Given the description of an element on the screen output the (x, y) to click on. 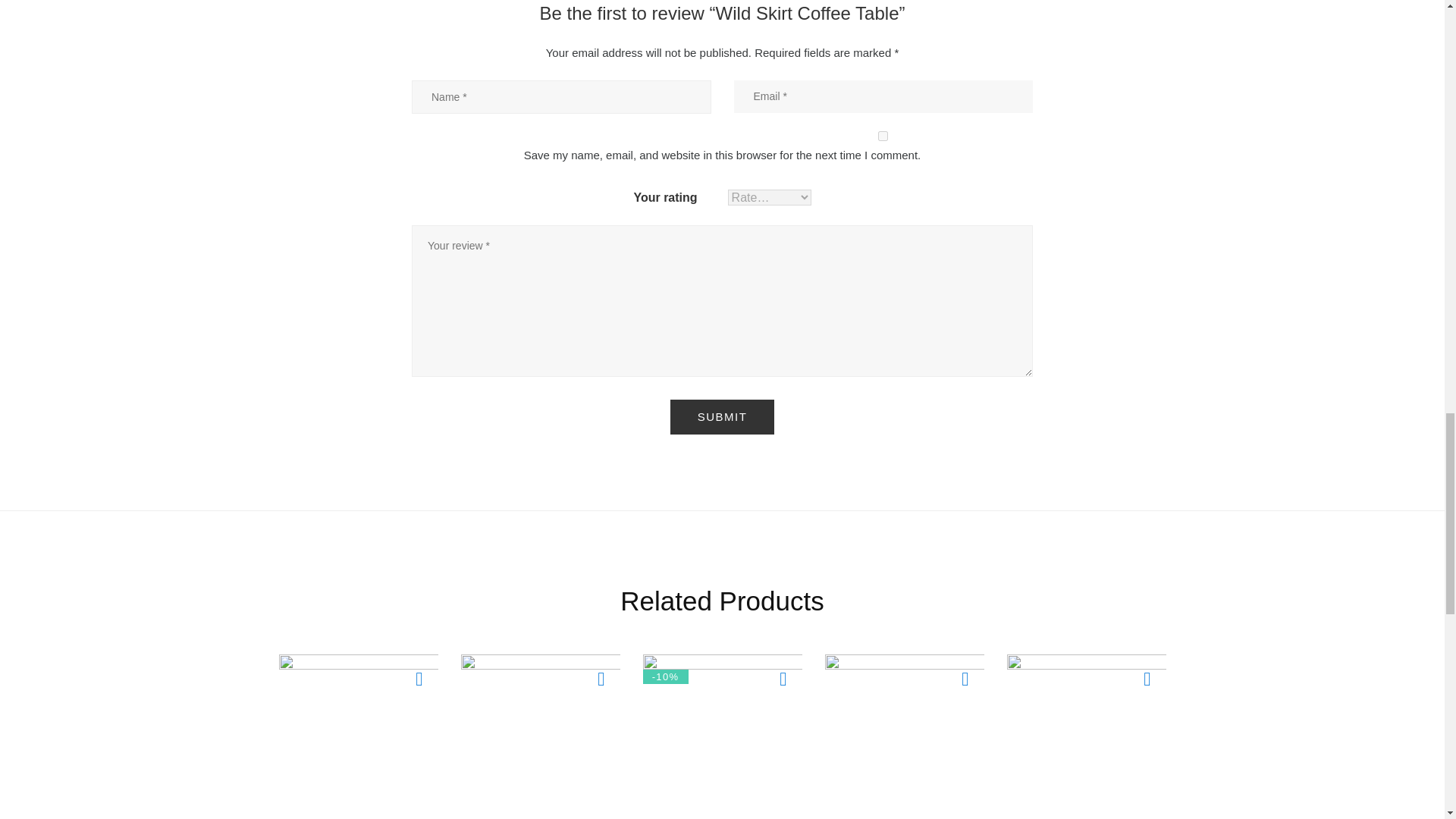
Submit (721, 416)
yes (882, 135)
Submit (721, 416)
